Given the description of an element on the screen output the (x, y) to click on. 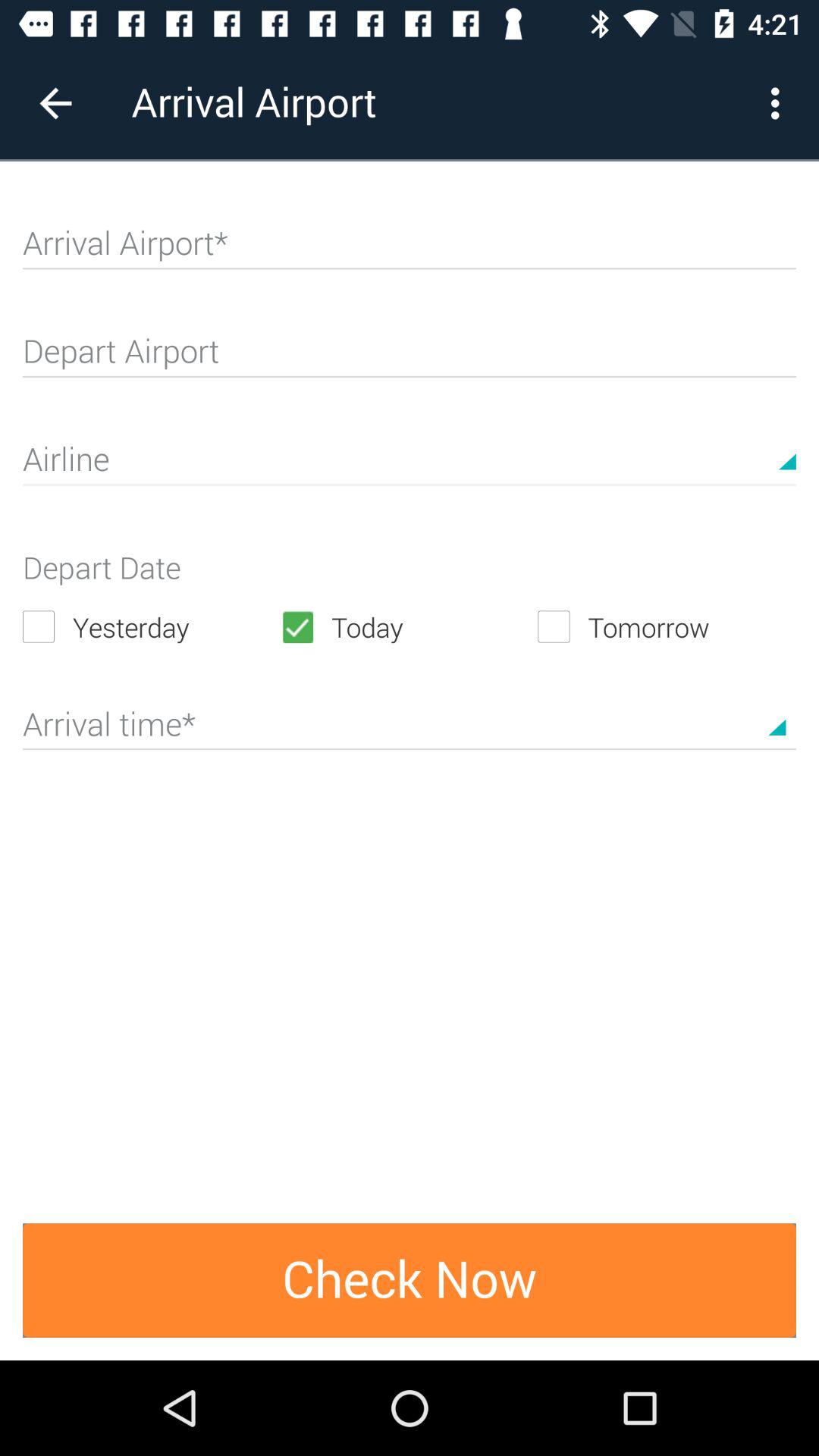
jump until the yesterday icon (151, 626)
